Given the description of an element on the screen output the (x, y) to click on. 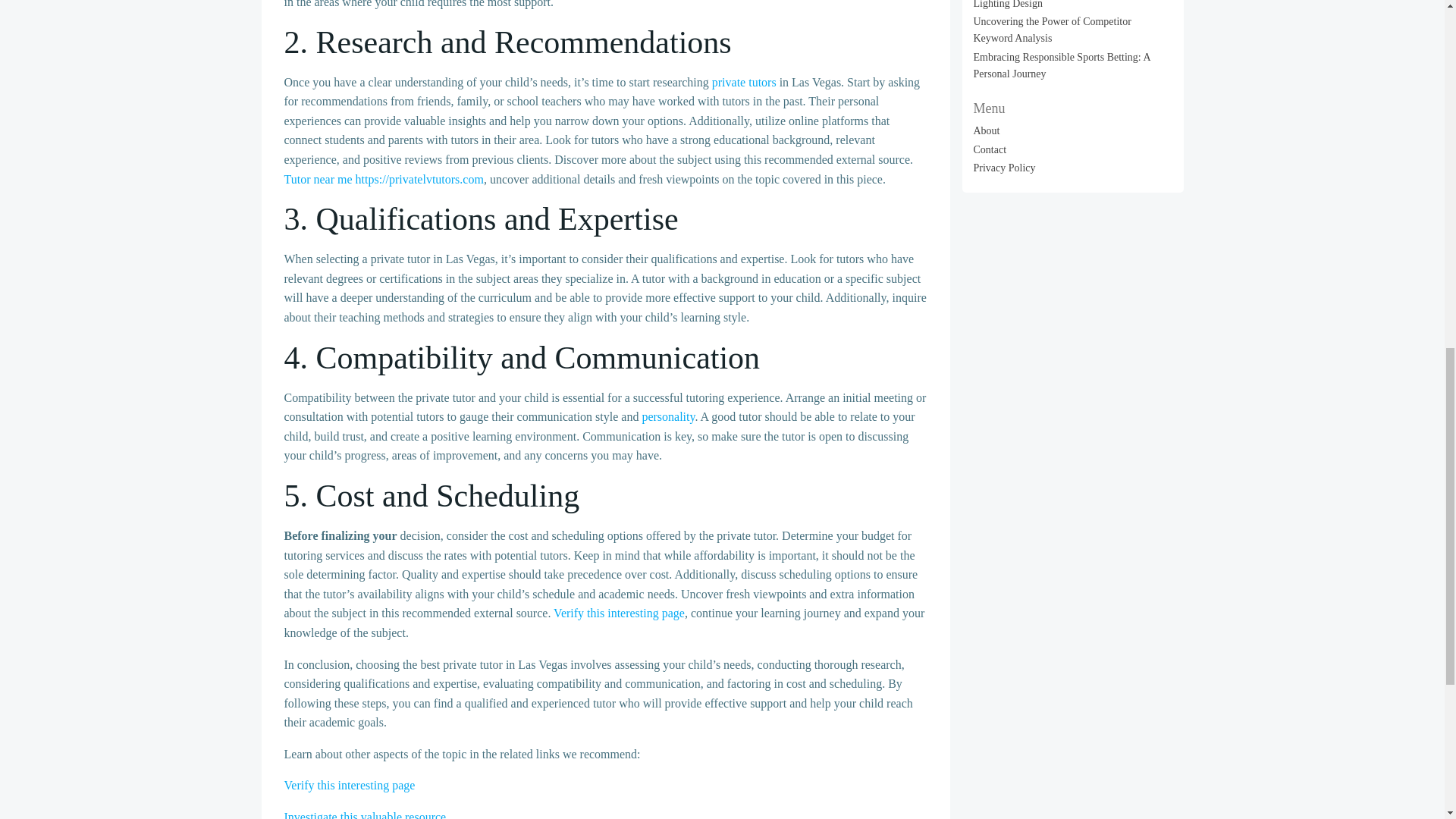
personality (668, 416)
Creating Magical Environments with Artistic Lighting Design (1070, 4)
Uncovering the Power of Competitor Keyword Analysis (1052, 29)
Verify this interesting page (348, 784)
Verify this interesting page (618, 612)
private tutors (743, 82)
Privacy Policy (1004, 167)
About (987, 130)
Embracing Responsible Sports Betting: A Personal Journey (1062, 65)
Investigate this valuable resource (364, 814)
Contact (990, 149)
